Given the description of an element on the screen output the (x, y) to click on. 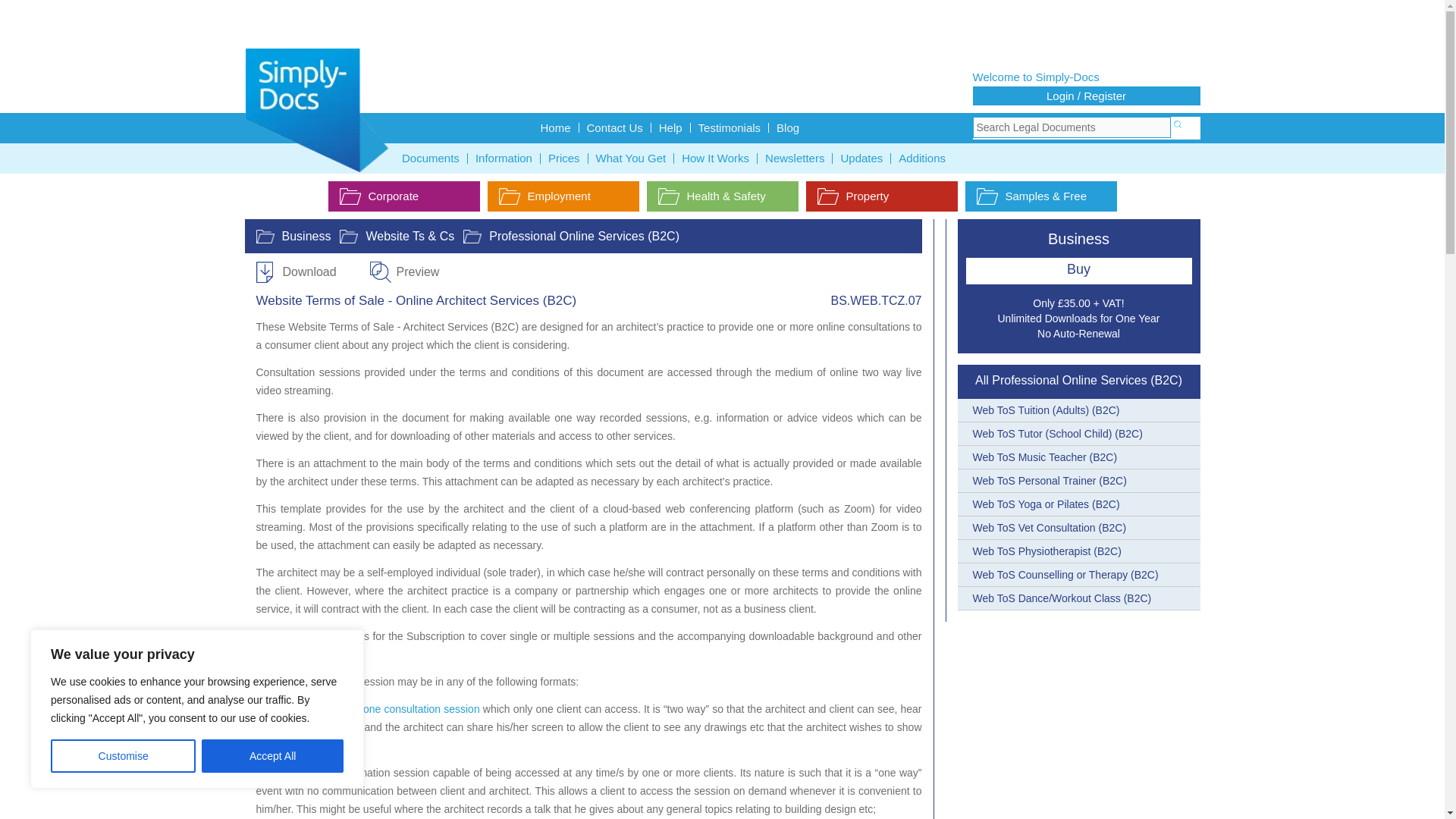
Testimonials (730, 127)
Help (670, 127)
Home (555, 127)
Customise (122, 756)
Blog (787, 127)
Accept All (272, 756)
Contact Us (614, 127)
Customer reviews powered by Trustpilot (721, 25)
